Given the description of an element on the screen output the (x, y) to click on. 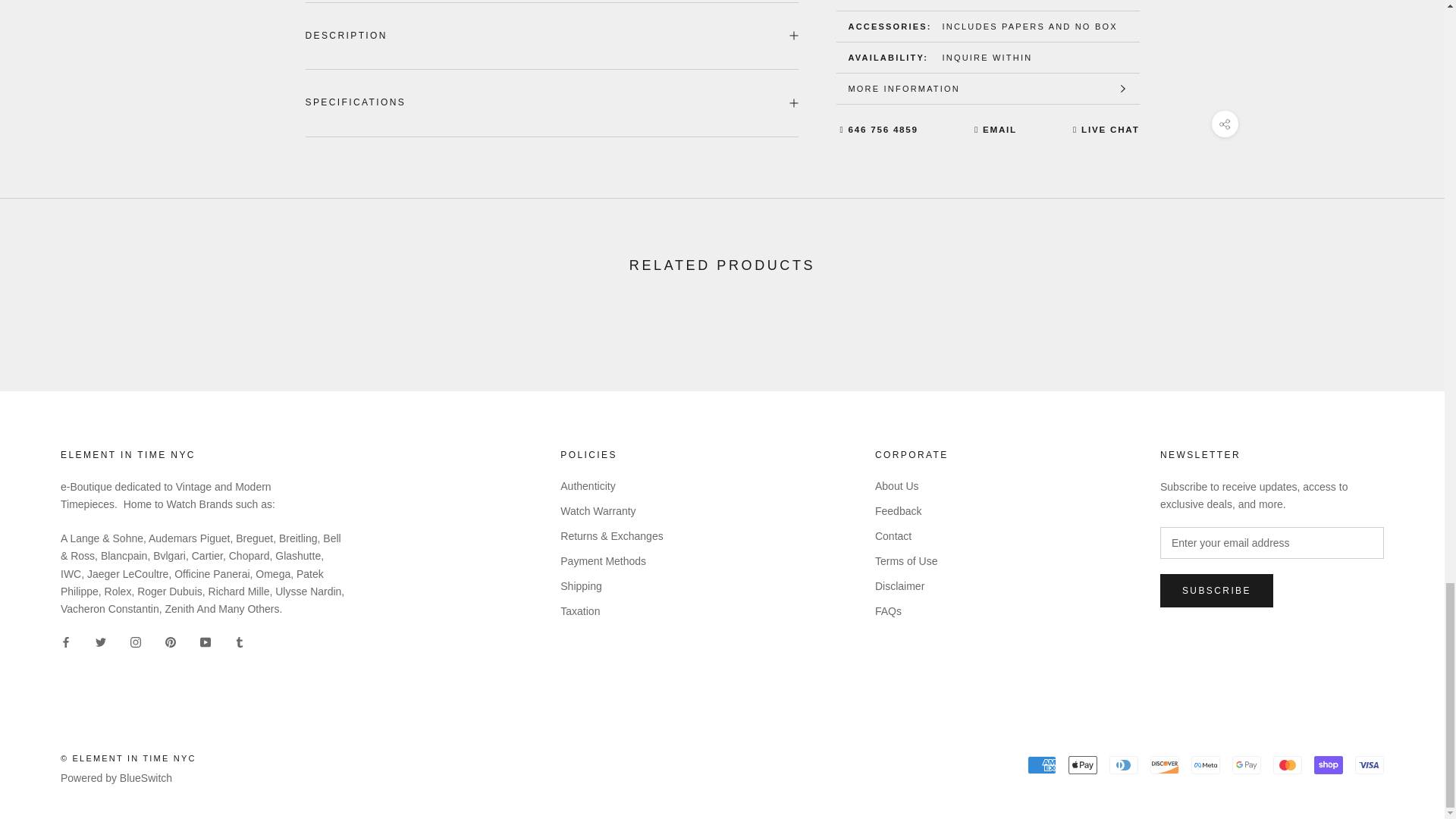
Diners Club (1123, 764)
Google Pay (1245, 764)
Meta Pay (1205, 764)
American Express (1042, 764)
Apple Pay (1082, 764)
Shop Pay (1328, 764)
Discover (1164, 764)
Mastercard (1286, 764)
